Given the description of an element on the screen output the (x, y) to click on. 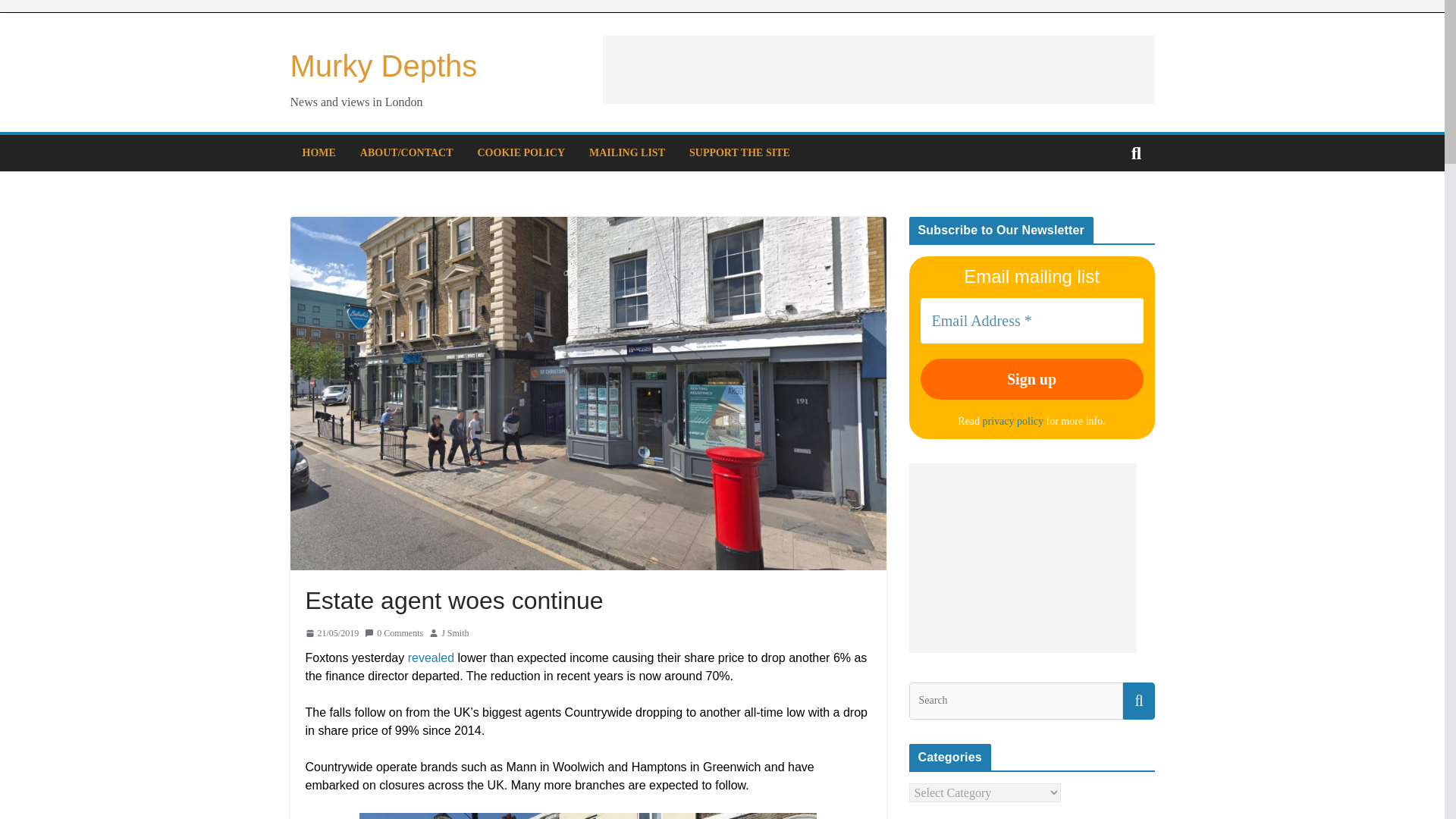
0 Comments (394, 632)
MAILING LIST (627, 152)
Murky Depths (383, 65)
J Smith (454, 632)
HOME (317, 152)
Advertisement (878, 70)
SUPPORT THE SITE (739, 152)
COOKIE POLICY (521, 152)
11:23 (331, 632)
J Smith (454, 632)
